Given the description of an element on the screen output the (x, y) to click on. 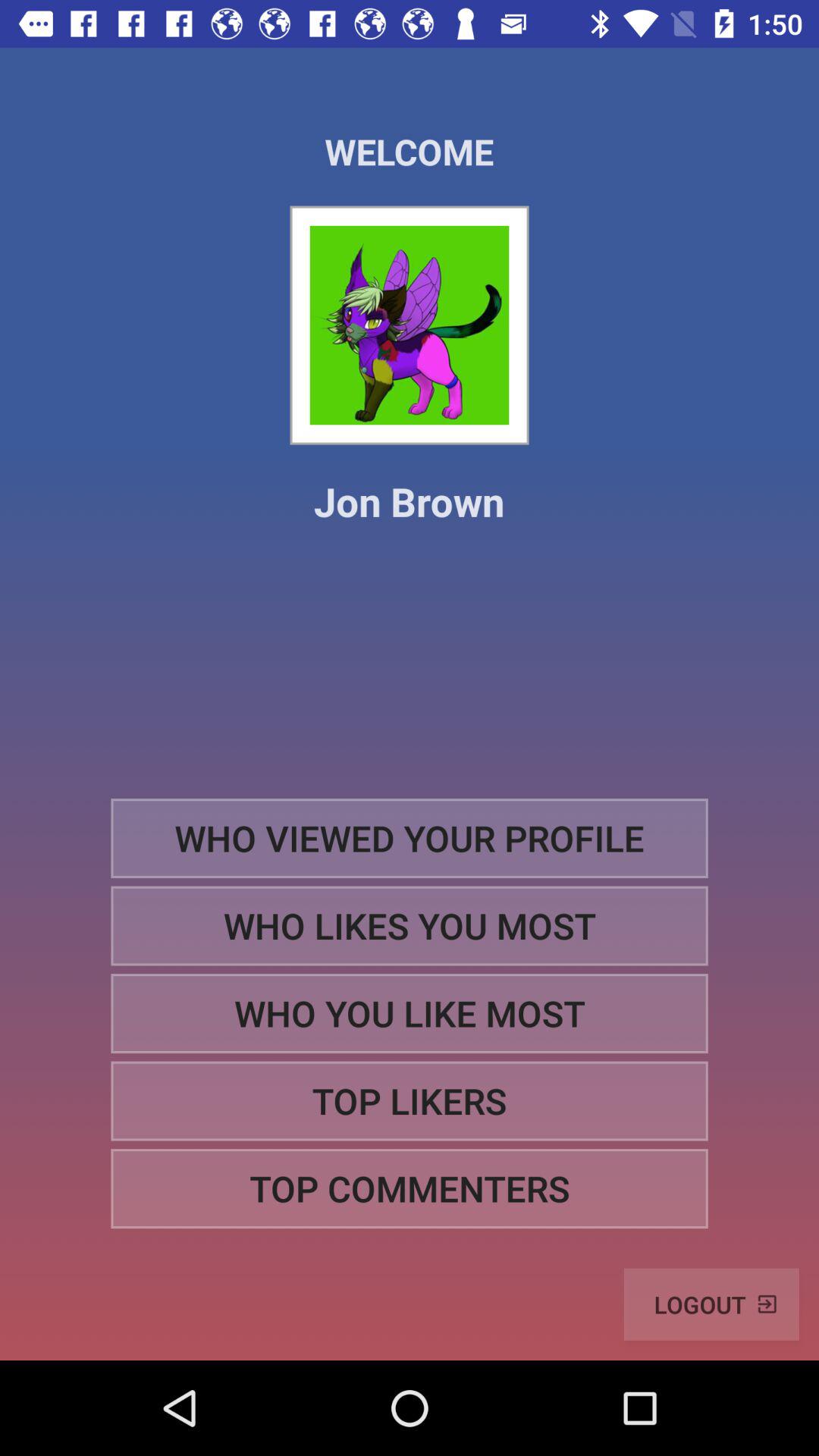
click the item below the top likers (409, 1188)
